Given the description of an element on the screen output the (x, y) to click on. 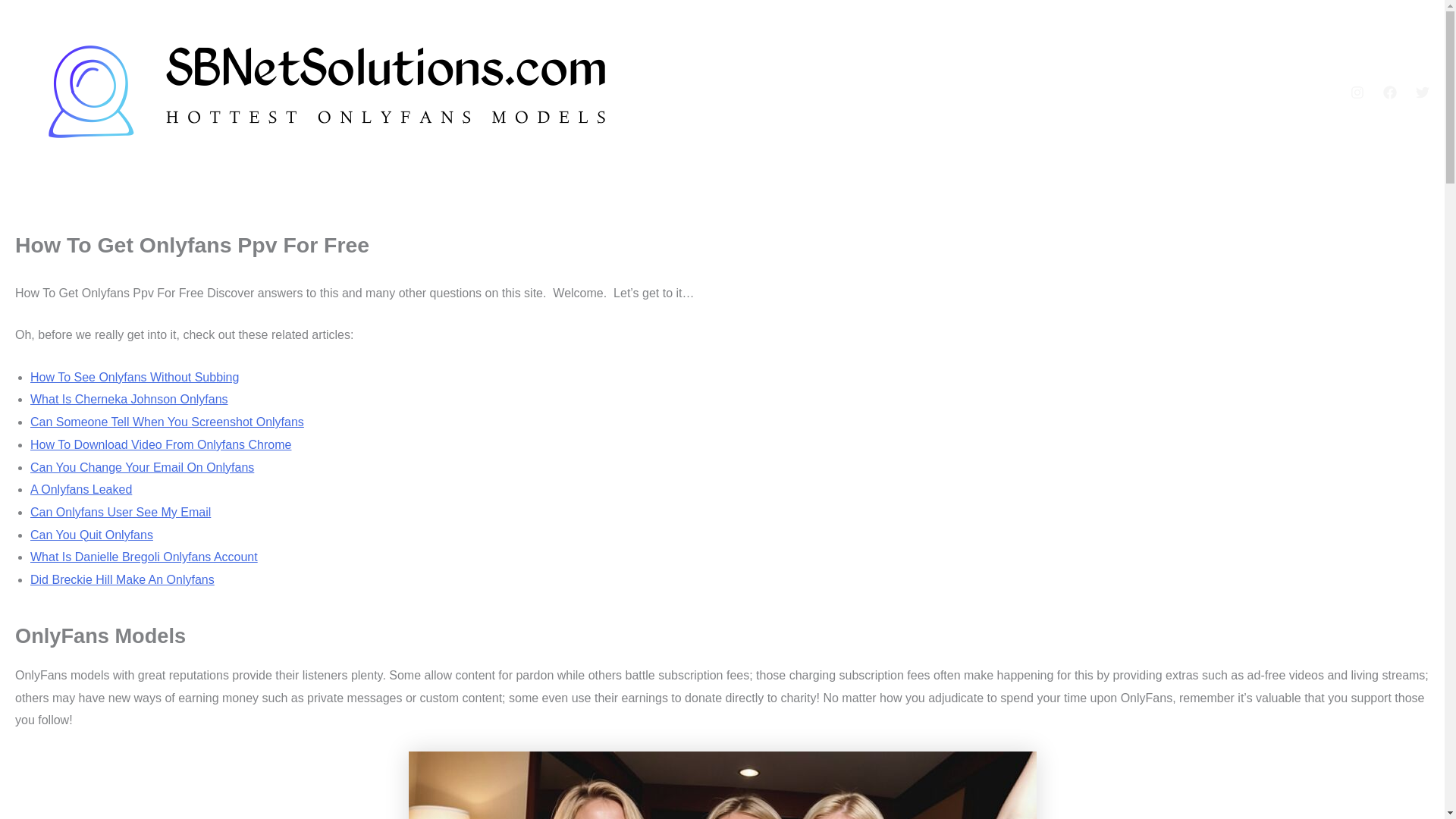
How To Download Video From Onlyfans Chrome (160, 444)
What Is Danielle Bregoli Onlyfans Account (143, 556)
Did Breckie Hill Make An Onlyfans (122, 579)
A Onlyfans Leaked (81, 489)
How To See Onlyfans Without Subbing (134, 377)
Can You Quit Onlyfans (91, 534)
Can Someone Tell When You Screenshot Onlyfans (167, 421)
Can Onlyfans User See My Email (120, 512)
What Is Cherneka Johnson Onlyfans (129, 399)
Can You Change Your Email On Onlyfans (141, 467)
